Given the description of an element on the screen output the (x, y) to click on. 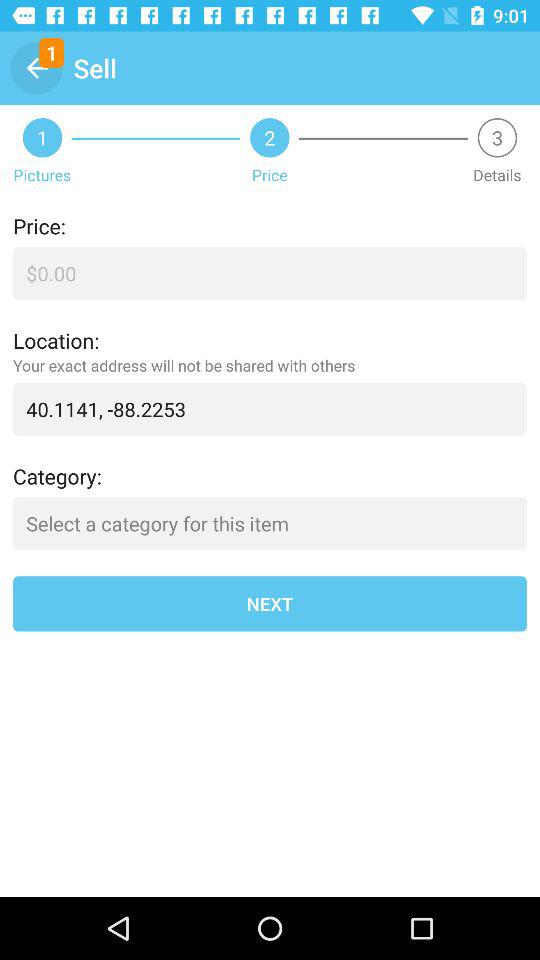
turn off the icon below price: icon (269, 273)
